Given the description of an element on the screen output the (x, y) to click on. 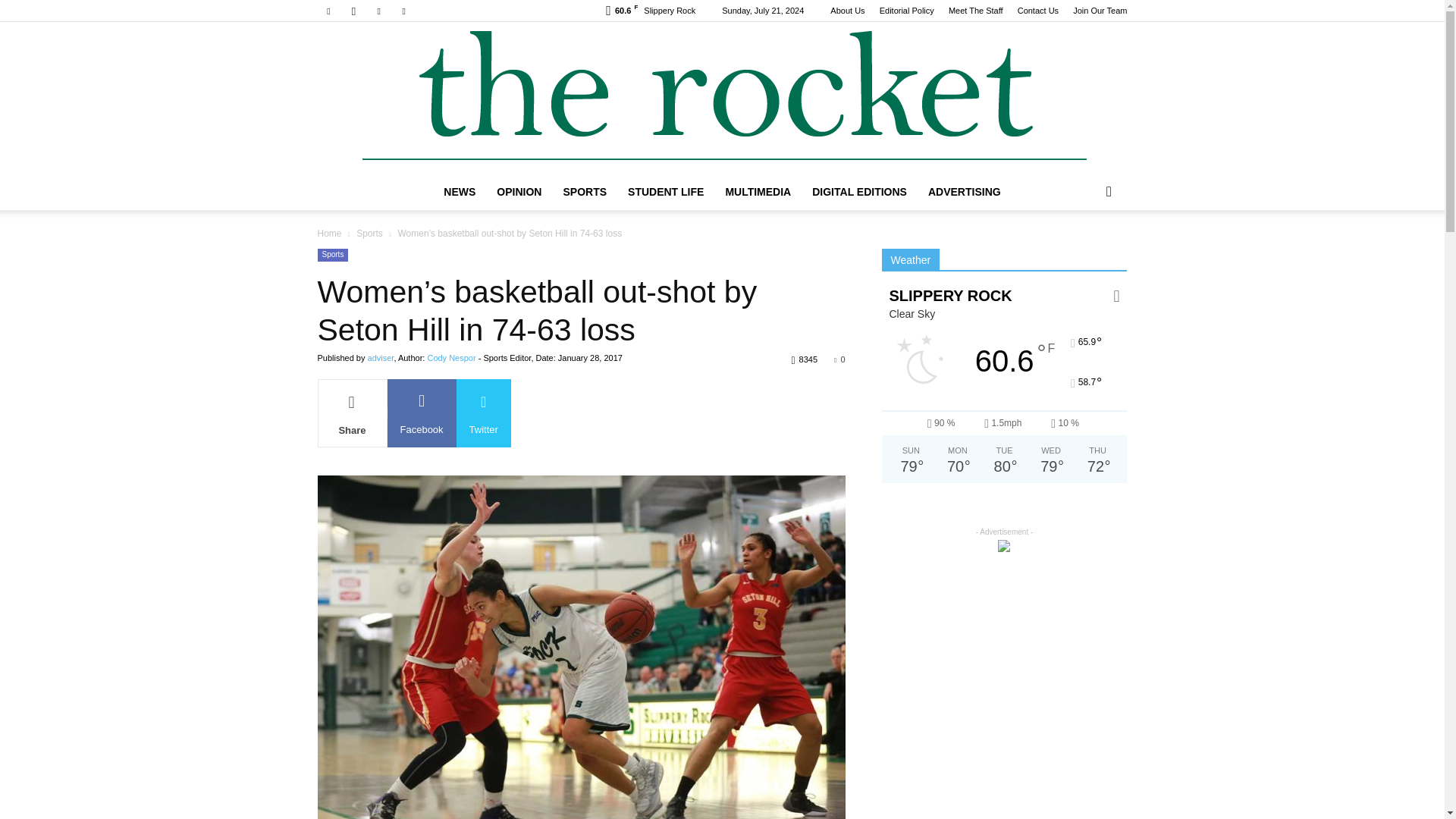
Sports (332, 254)
Facebook (328, 10)
Editorial Policy (906, 10)
View all posts in Sports (369, 233)
Search (1085, 252)
Instagram (353, 10)
Youtube (403, 10)
OPINION (518, 191)
DIGITAL EDITIONS (859, 191)
SPORTS (584, 191)
Sports (369, 233)
MULTIMEDIA (758, 191)
Contact Us (1037, 10)
About Us (846, 10)
